Given the description of an element on the screen output the (x, y) to click on. 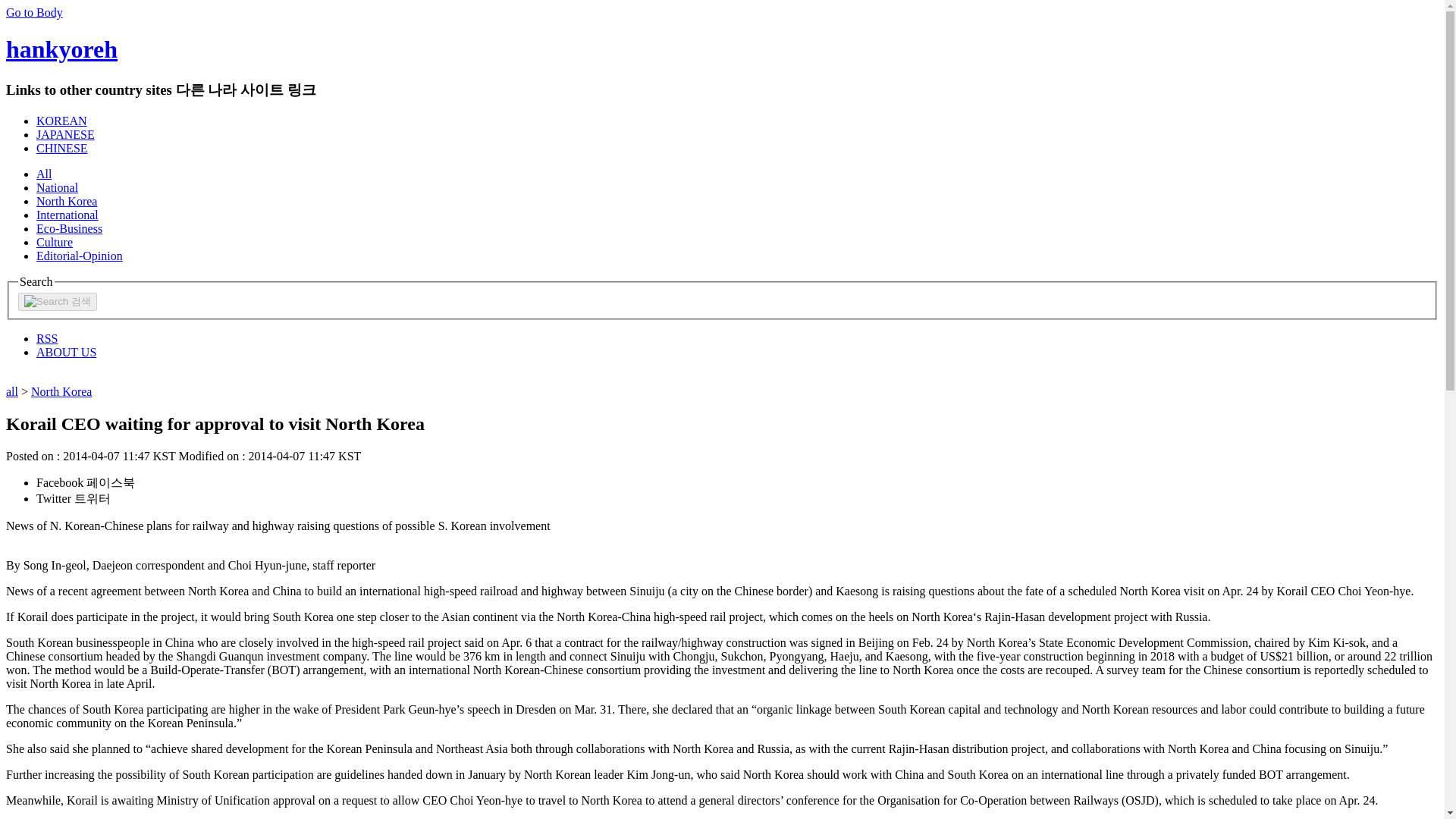
ABOUT US (66, 351)
RSS (47, 338)
National (57, 187)
Editorial-Opinion (79, 255)
North Korea (66, 201)
KOREAN (61, 120)
North Korea (60, 391)
all (11, 391)
Go to Body (33, 11)
JAPANESE (65, 133)
